Given the description of an element on the screen output the (x, y) to click on. 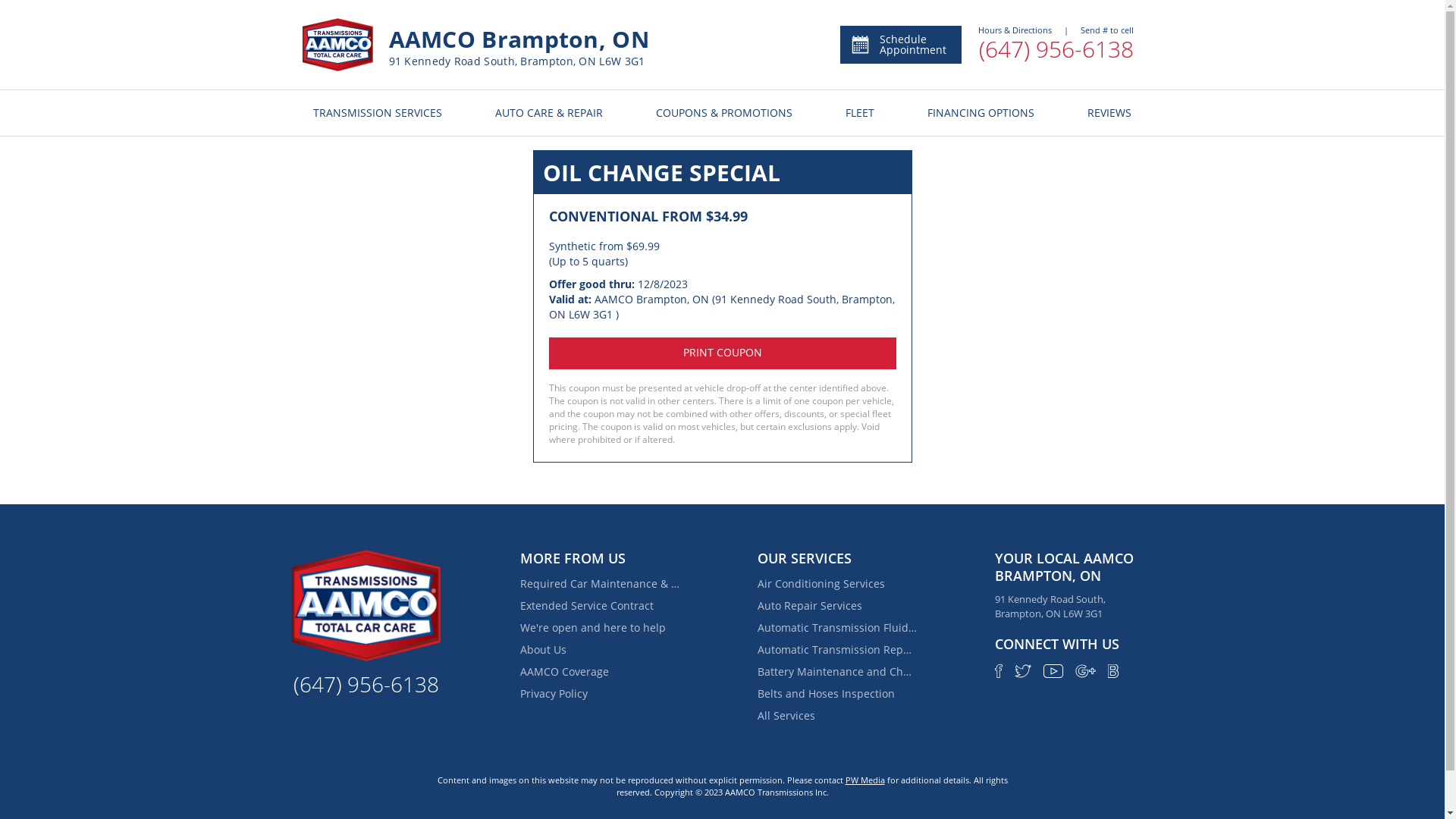
Automatic Transmission Fluid Service Element type: text (836, 627)
FLEET Element type: text (859, 112)
Extended Service Contract Element type: text (599, 605)
We're open and here to help Element type: text (599, 627)
PW Media Element type: text (864, 779)
AUTO CARE & REPAIR Element type: text (548, 112)
REVIEWS Element type: text (1109, 112)
TRANSMISSION SERVICES Element type: text (376, 112)
Privacy Policy Element type: text (599, 693)
PRINT COUPON Element type: text (722, 353)
Auto Repair Services Element type: text (836, 605)
About Us Element type: text (599, 649)
COUPONS & PROMOTIONS Element type: text (723, 112)
Air Conditioning Services Element type: text (836, 583)
Schedule Appointment Element type: text (900, 44)
AAMCO Coverage Element type: text (599, 671)
Battery Maintenance and Charging Service Element type: text (836, 671)
(647) 956-6138 Element type: text (1056, 49)
Required Car Maintenance & New Car Warranty Element type: text (599, 583)
All Services Element type: text (836, 715)
Belts and Hoses Inspection Element type: text (836, 693)
FINANCING OPTIONS Element type: text (980, 112)
(647) 956-6138 Element type: text (365, 683)
Automatic Transmission Repair and Rebuilding Element type: text (836, 649)
Back to Coupons & Promotions Element type: text (722, 123)
